Given the description of an element on the screen output the (x, y) to click on. 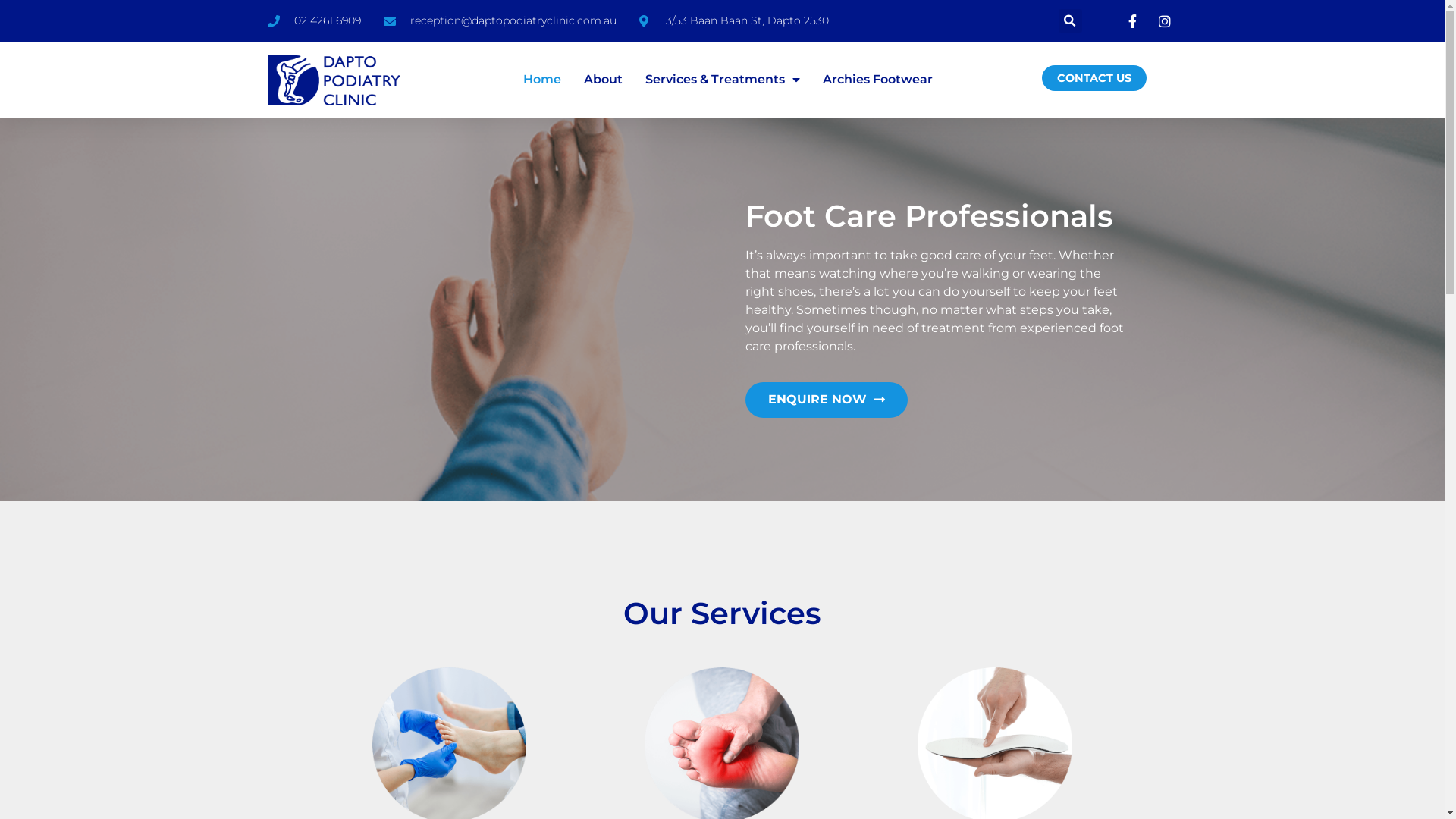
02 4261 6909 Element type: text (313, 20)
reception@daptopodiatryclinic.com.au Element type: text (499, 20)
Archies Footwear Element type: text (877, 79)
Services & Treatments Element type: text (722, 79)
3/53 Baan Baan St, Dapto 2530 Element type: text (733, 20)
CONTACT US Element type: text (1093, 78)
Home Element type: text (542, 79)
About Element type: text (602, 79)
ENQUIRE NOW Element type: text (825, 399)
